Given the description of an element on the screen output the (x, y) to click on. 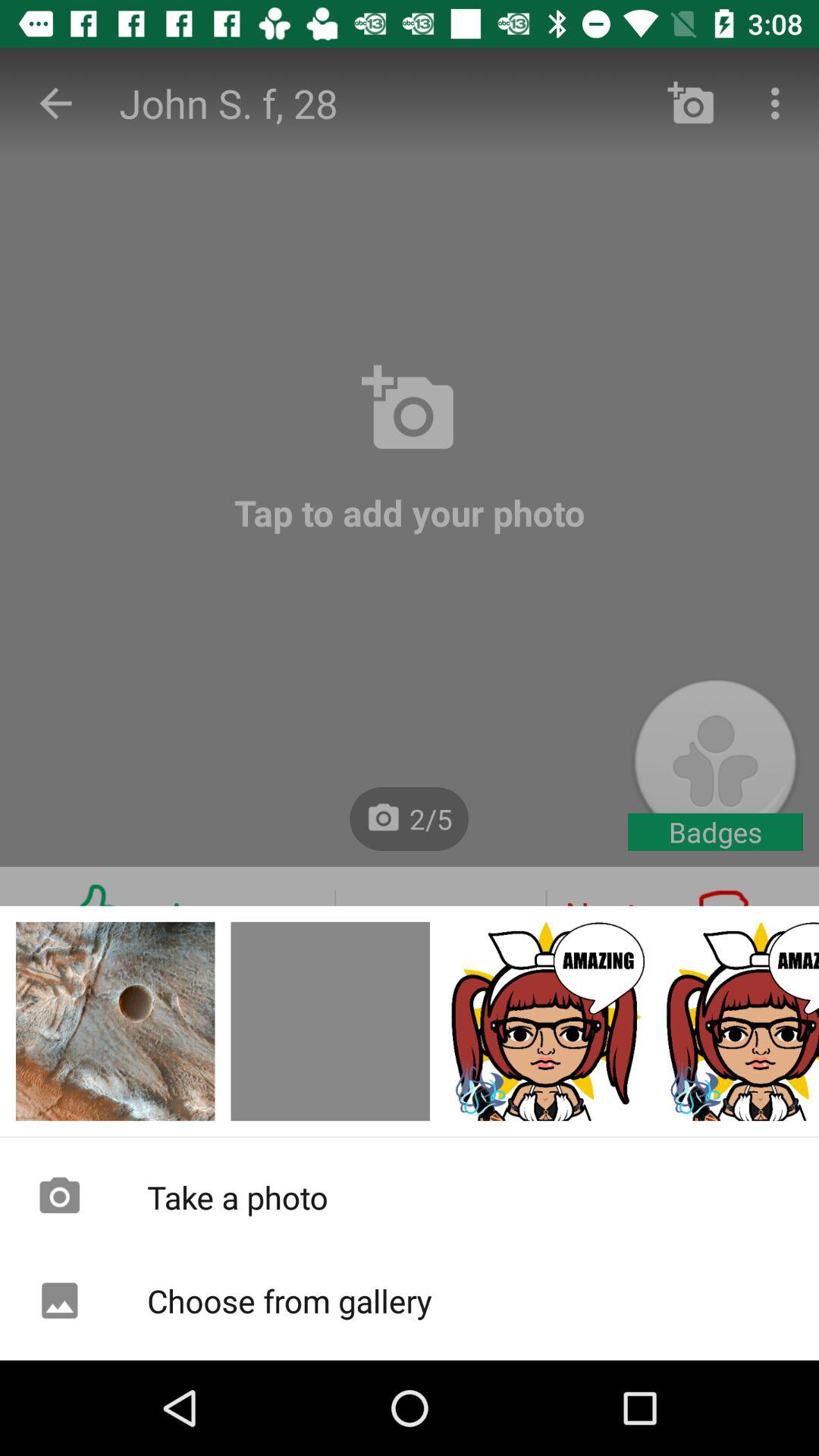
select the icon below the take a photo (409, 1300)
